Given the description of an element on the screen output the (x, y) to click on. 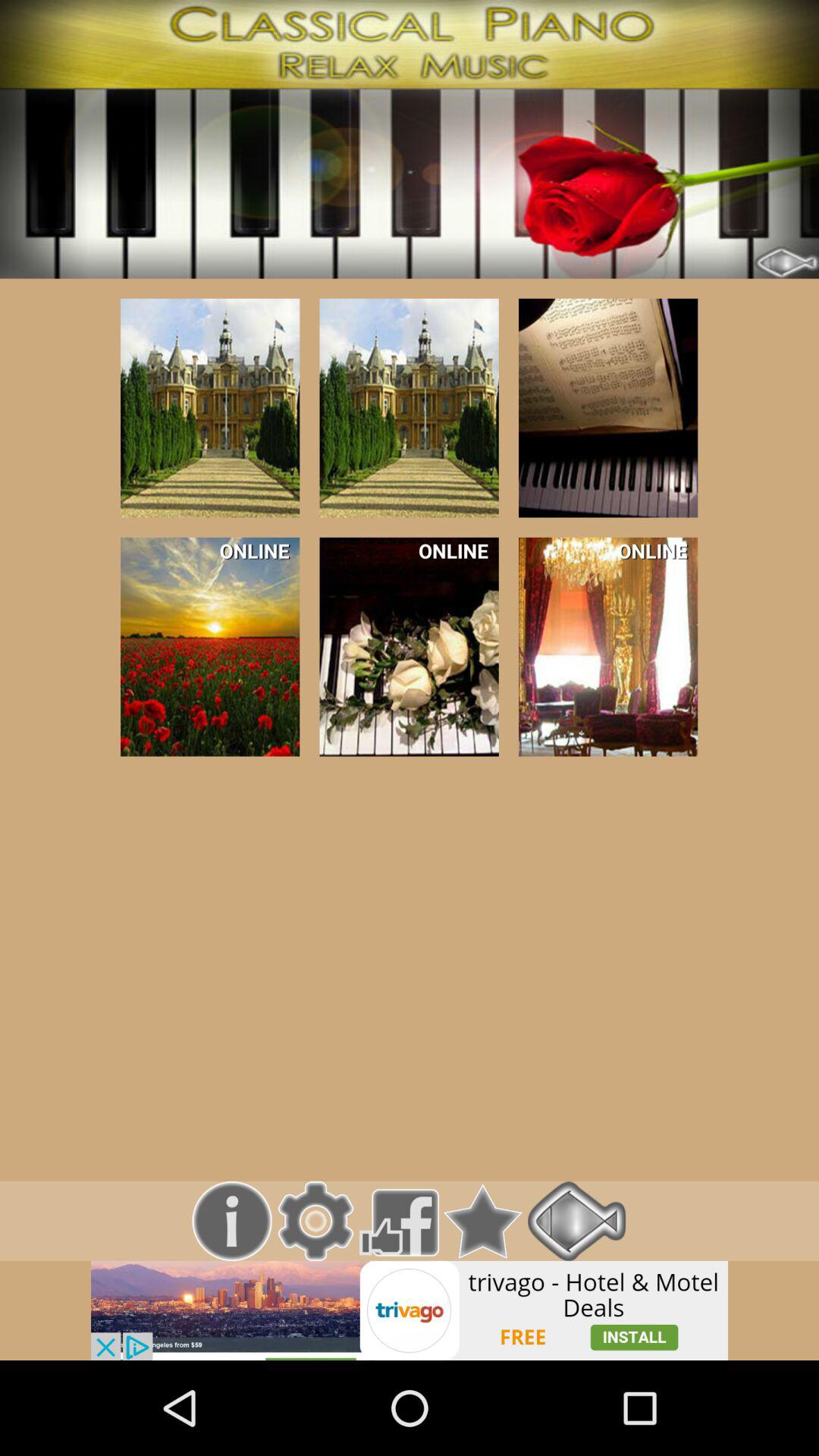
shows building image (607, 407)
